Given the description of an element on the screen output the (x, y) to click on. 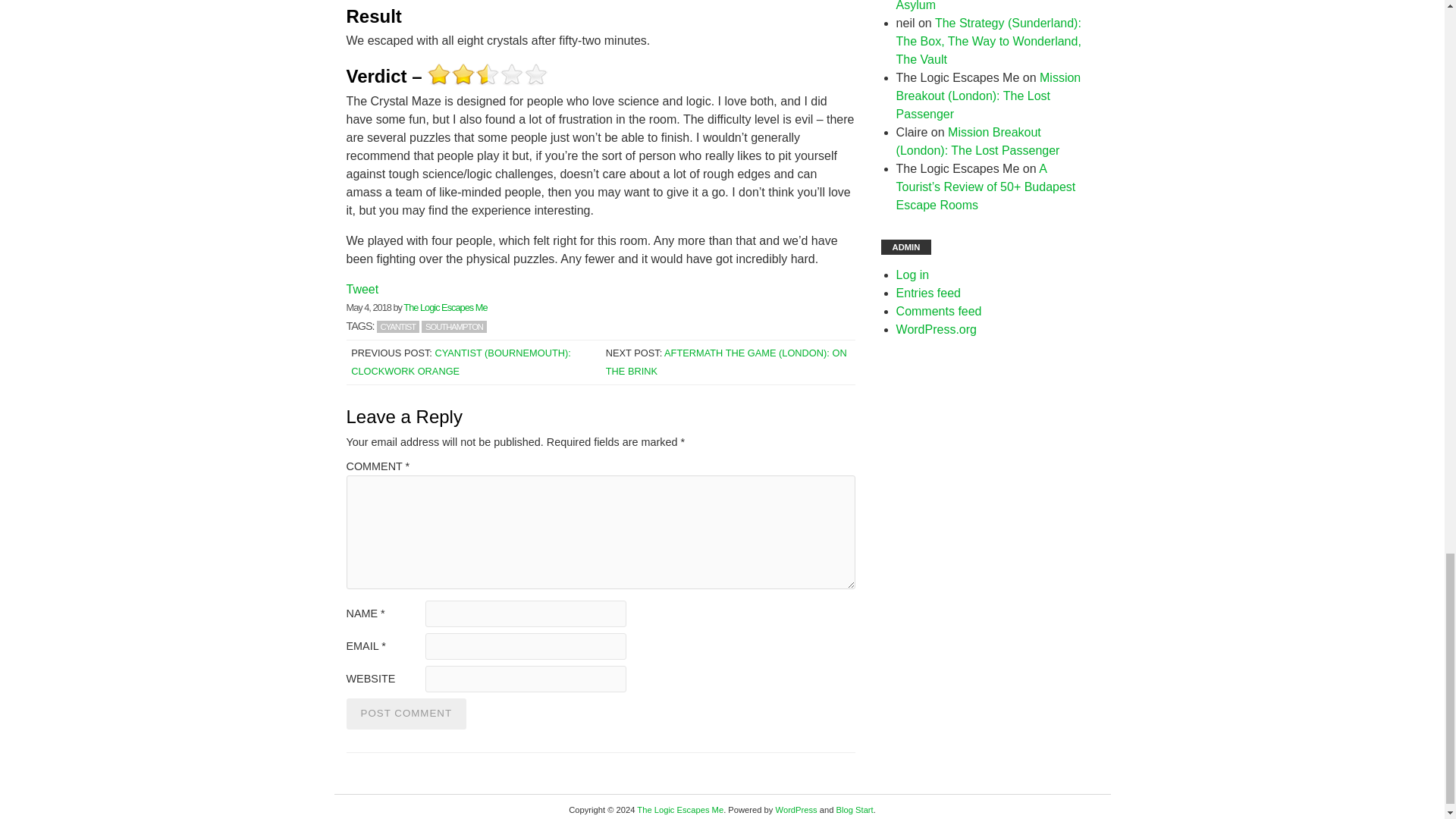
Posts by The Logic Escapes Me (444, 307)
Friday, May 4, 2018, 5:12 pm (368, 307)
Post Comment (405, 713)
